Given the description of an element on the screen output the (x, y) to click on. 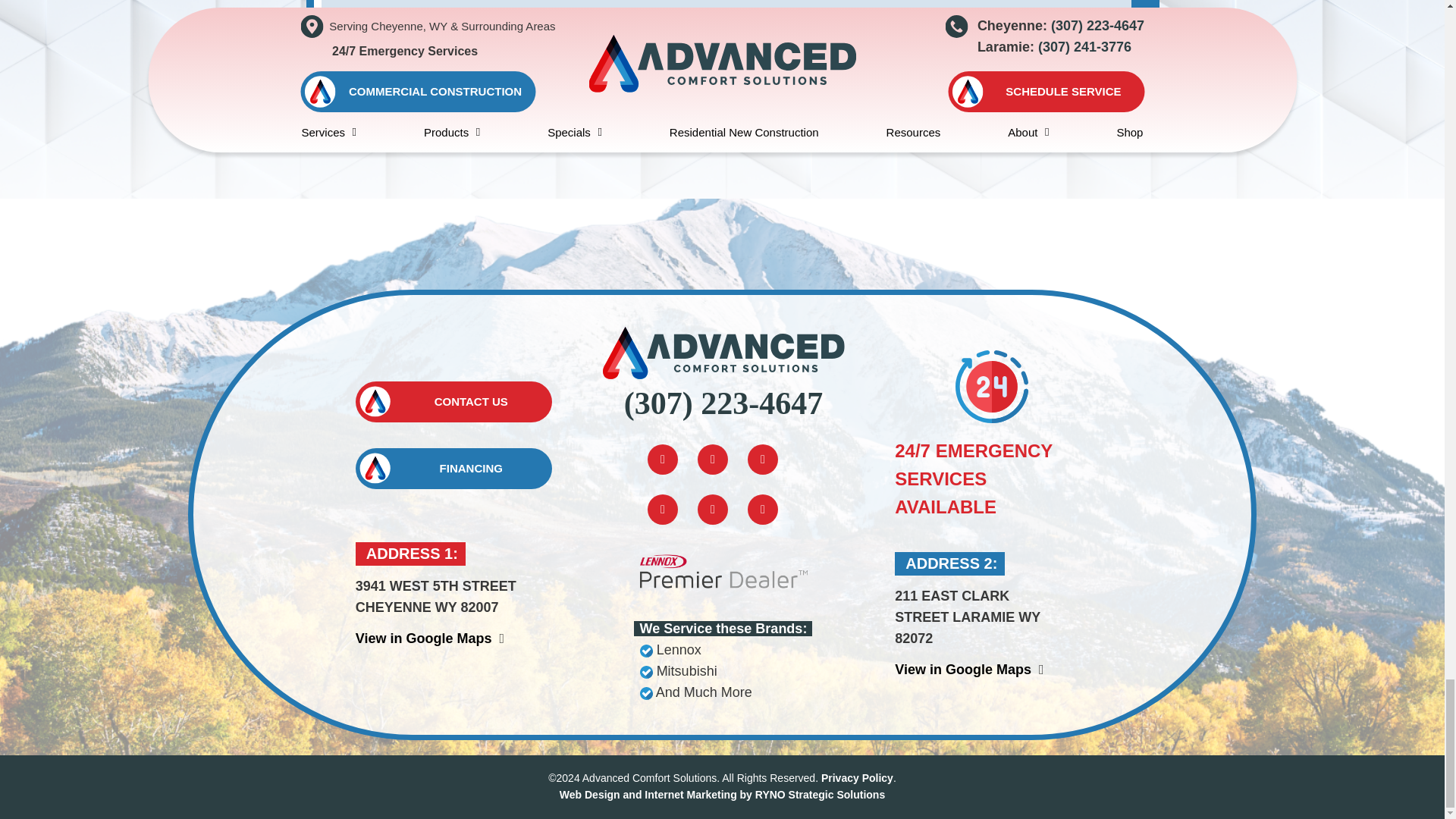
Advanced Comfort Solutions (723, 352)
